Given the description of an element on the screen output the (x, y) to click on. 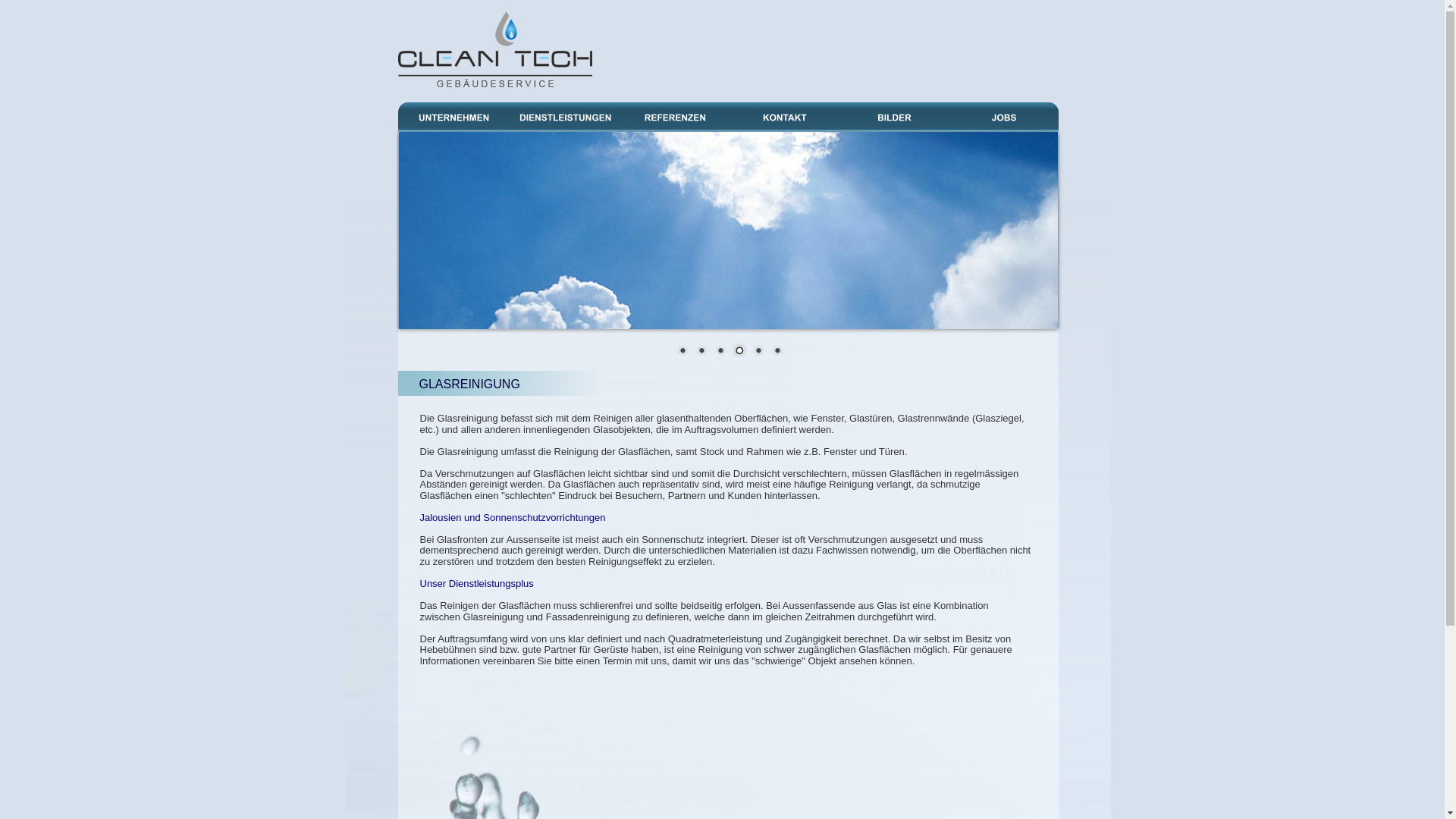
5 Element type: text (757, 351)
4 Element type: text (739, 351)
2 Element type: text (701, 351)
3 Element type: text (720, 351)
1 Element type: text (682, 351)
6 Element type: text (776, 351)
